Given the description of an element on the screen output the (x, y) to click on. 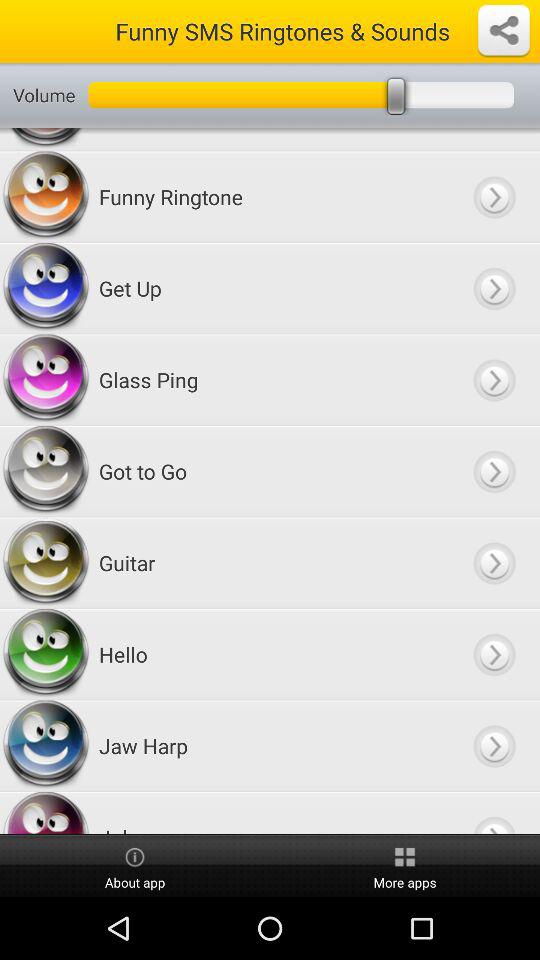
go to next (494, 196)
